Given the description of an element on the screen output the (x, y) to click on. 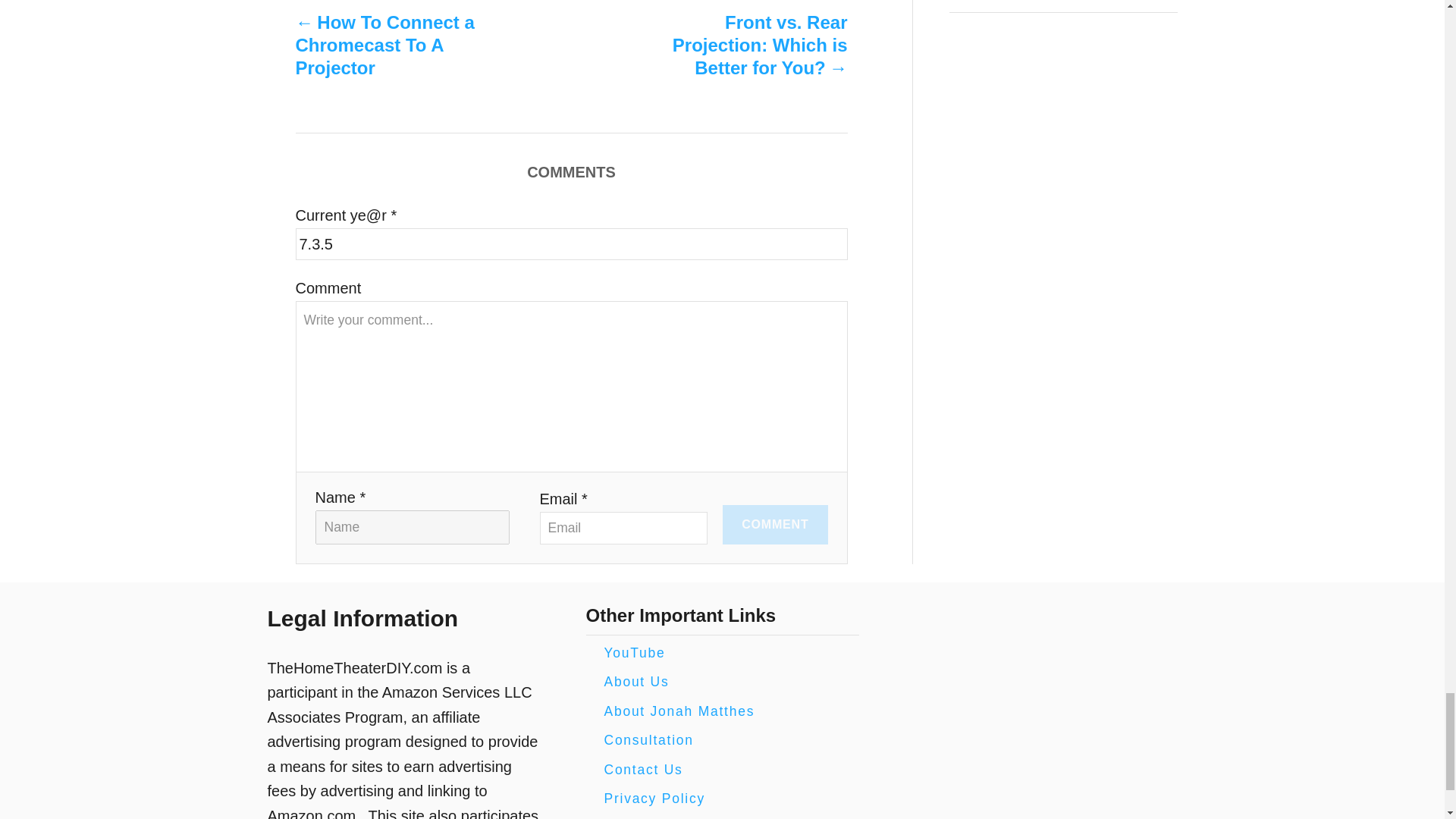
7.3.5 (571, 244)
